Given the description of an element on the screen output the (x, y) to click on. 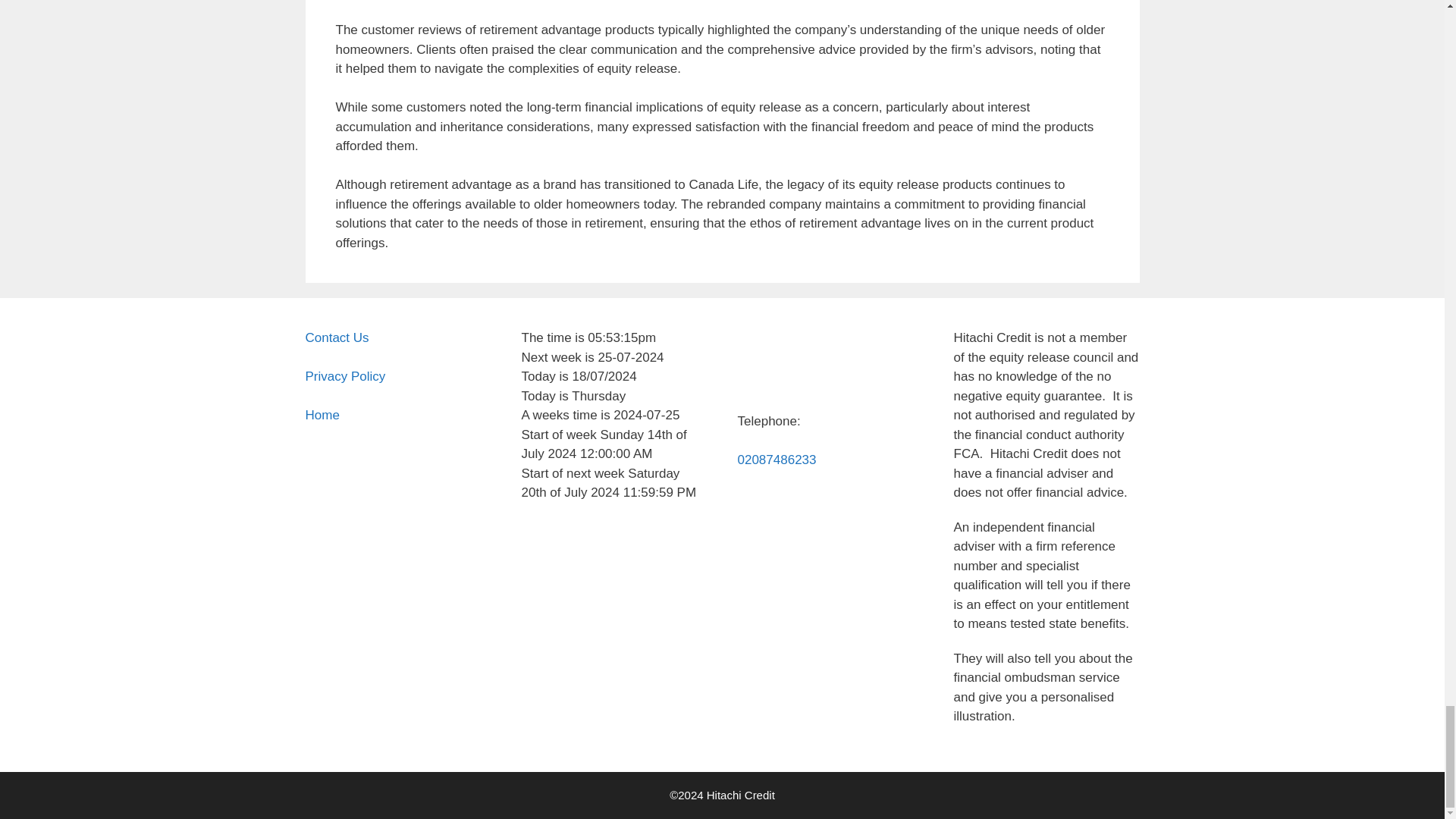
02087486233 (775, 459)
Privacy Policy (344, 376)
Home (321, 414)
Contact Us (336, 337)
